Given the description of an element on the screen output the (x, y) to click on. 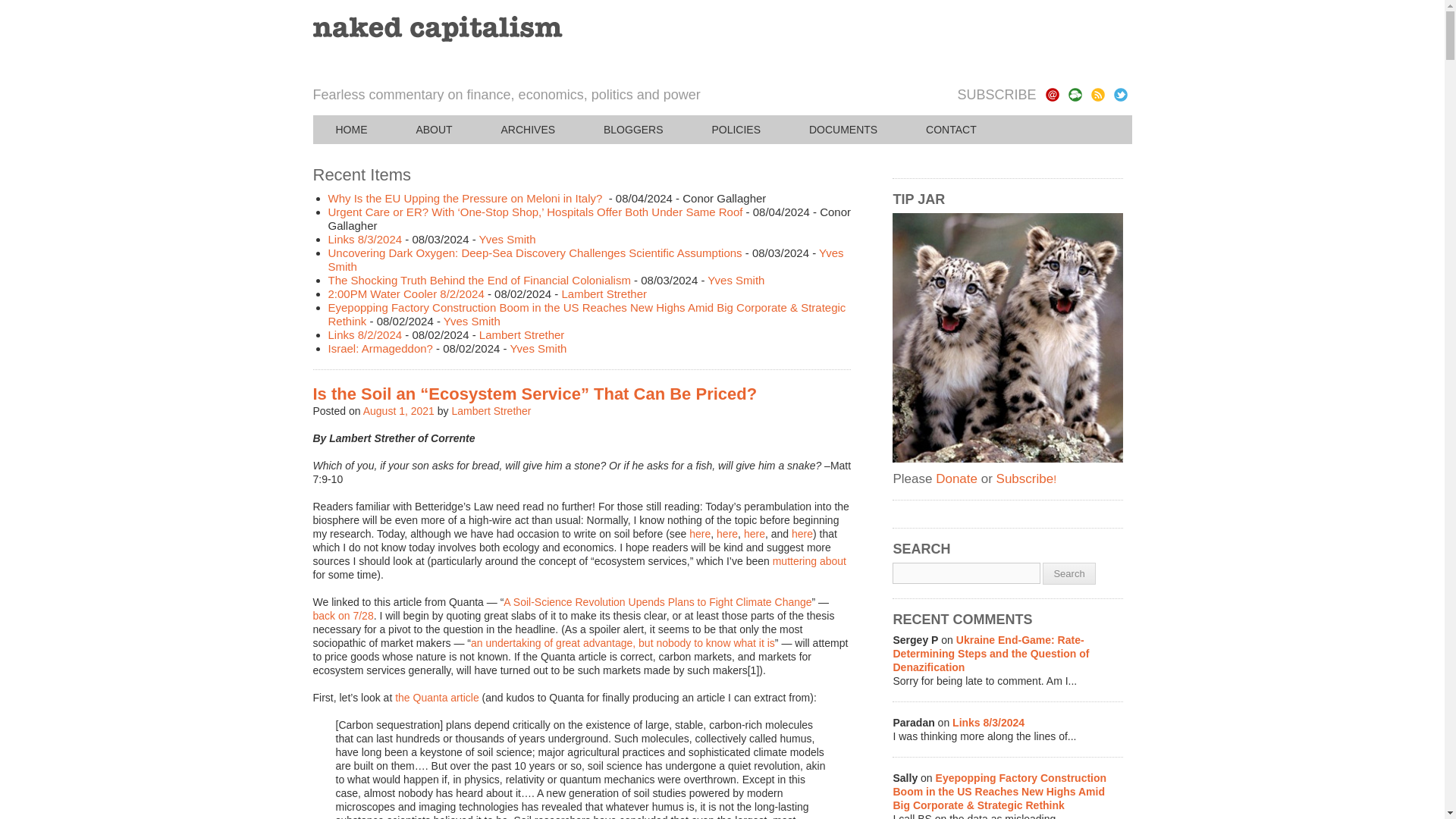
Yves Smith (472, 320)
ABOUT (433, 129)
Follow yvessmith on Twitter (1119, 94)
Feedburner RSS Feed (1096, 94)
HOME (351, 129)
The Shocking Truth Behind the End of Financial Colonialism (478, 279)
CONTACT (950, 129)
Yves Smith (537, 348)
BLOGGERS (632, 129)
Lambert Strether (521, 334)
